Given the description of an element on the screen output the (x, y) to click on. 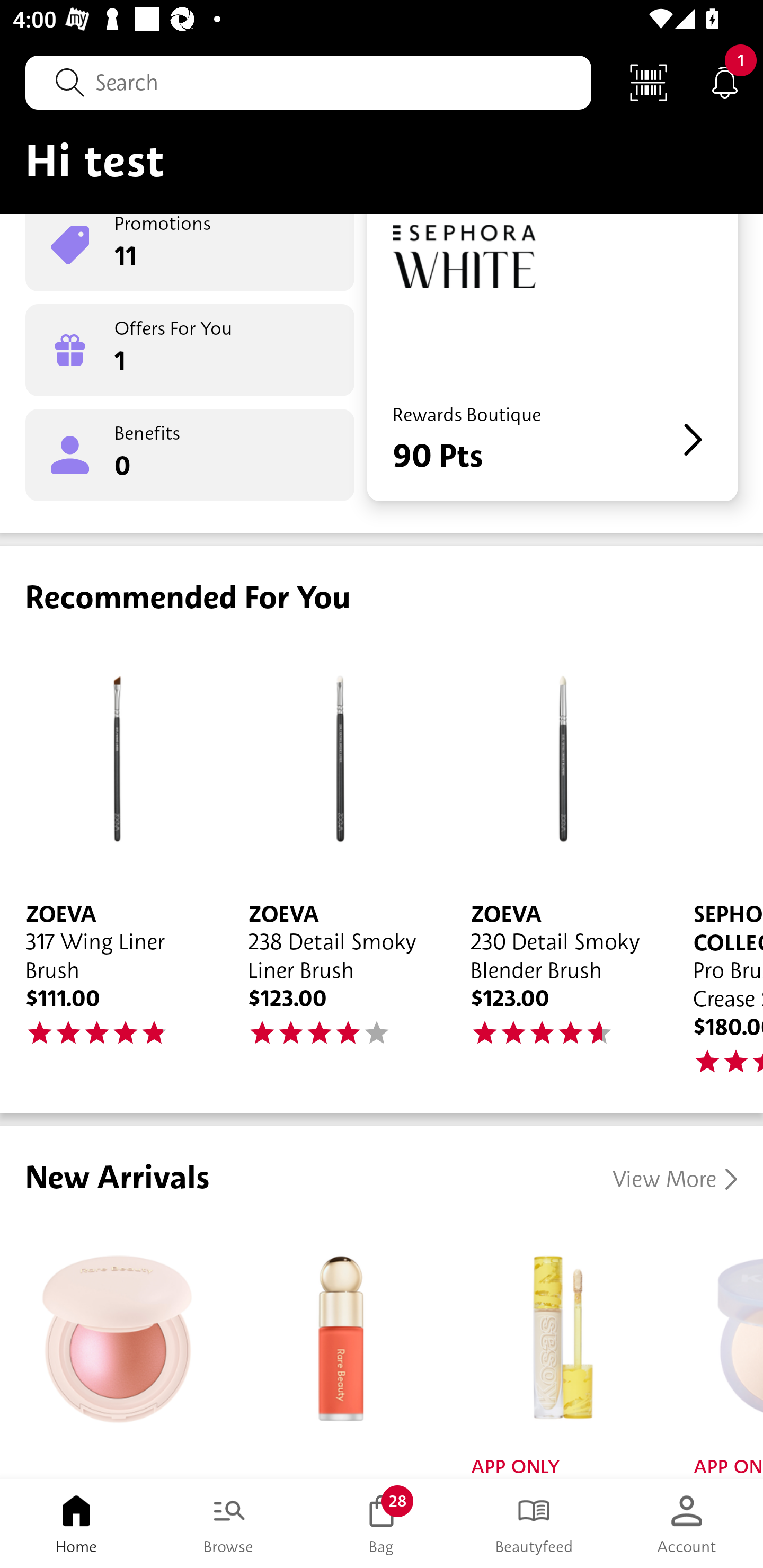
Scan Code (648, 81)
Notifications (724, 81)
Search (308, 81)
Promotions 11 (189, 252)
Rewards Boutique 90 Pts (552, 357)
Offers For You 1 (189, 350)
Benefits 0 (189, 455)
ZOEVA 317 Wing Liner Brush $111.00 48.0 (111, 858)
ZOEVA 238 Detail Smoky Liner Brush $123.00 40.0 (333, 858)
ZOEVA 230 Detail Smoky Blender Brush $123.00 46.0 (555, 858)
New Arrivals View More APP ONLY APP ONLY (381, 1301)
View More (674, 1179)
APP ONLY (555, 1350)
Browse (228, 1523)
Bag 28 Bag (381, 1523)
Beautyfeed (533, 1523)
Account (686, 1523)
